Given the description of an element on the screen output the (x, y) to click on. 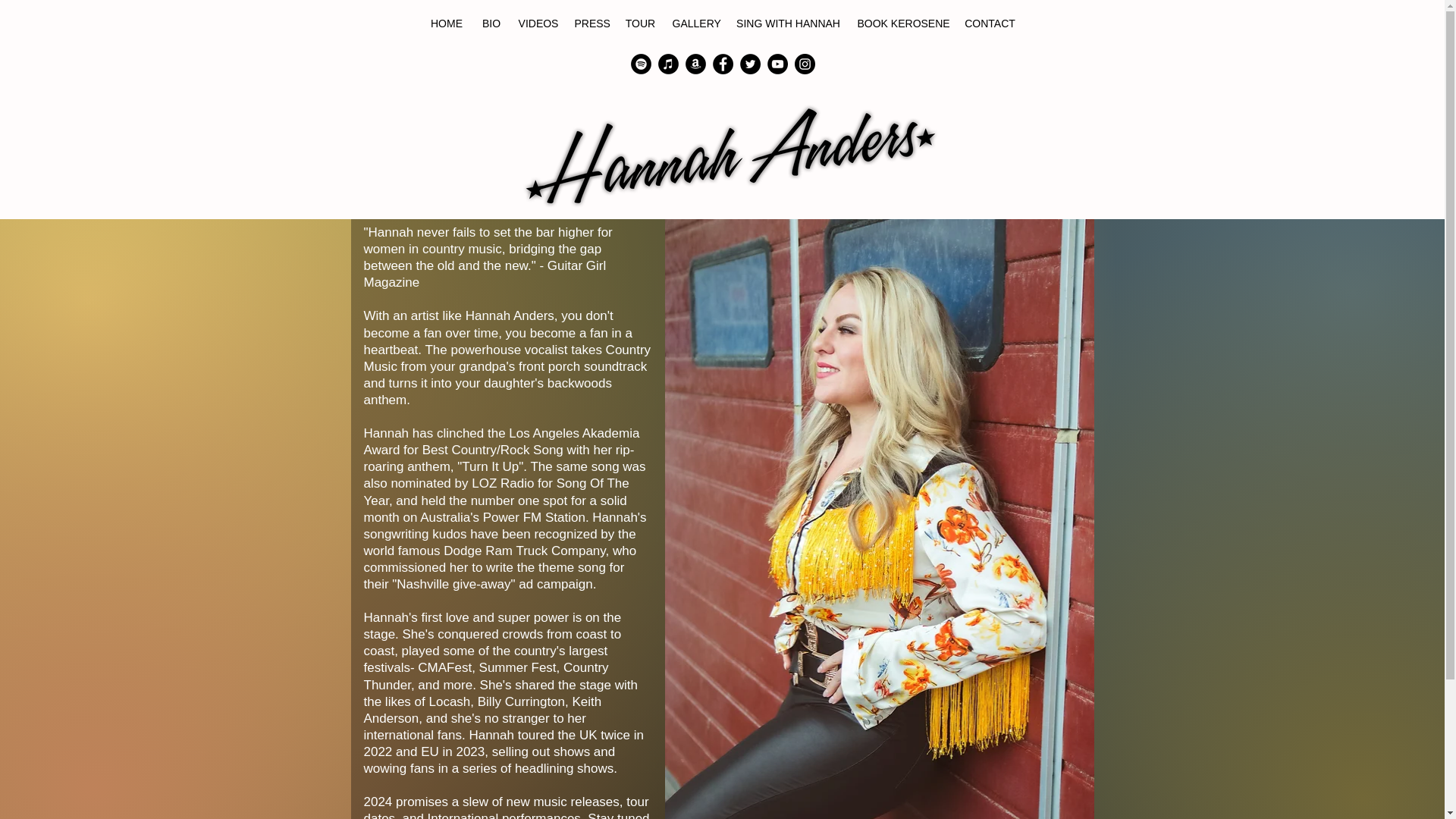
HOME (446, 23)
SING WITH HANNAH (788, 23)
BOOK KEROSENE (901, 23)
GALLERY (694, 23)
TOUR (640, 23)
PRESS (591, 23)
CONTACT (989, 23)
VIDEOS (538, 23)
HA Stars logo Black on TRANS shadow.png (733, 154)
BIO (492, 23)
